Given the description of an element on the screen output the (x, y) to click on. 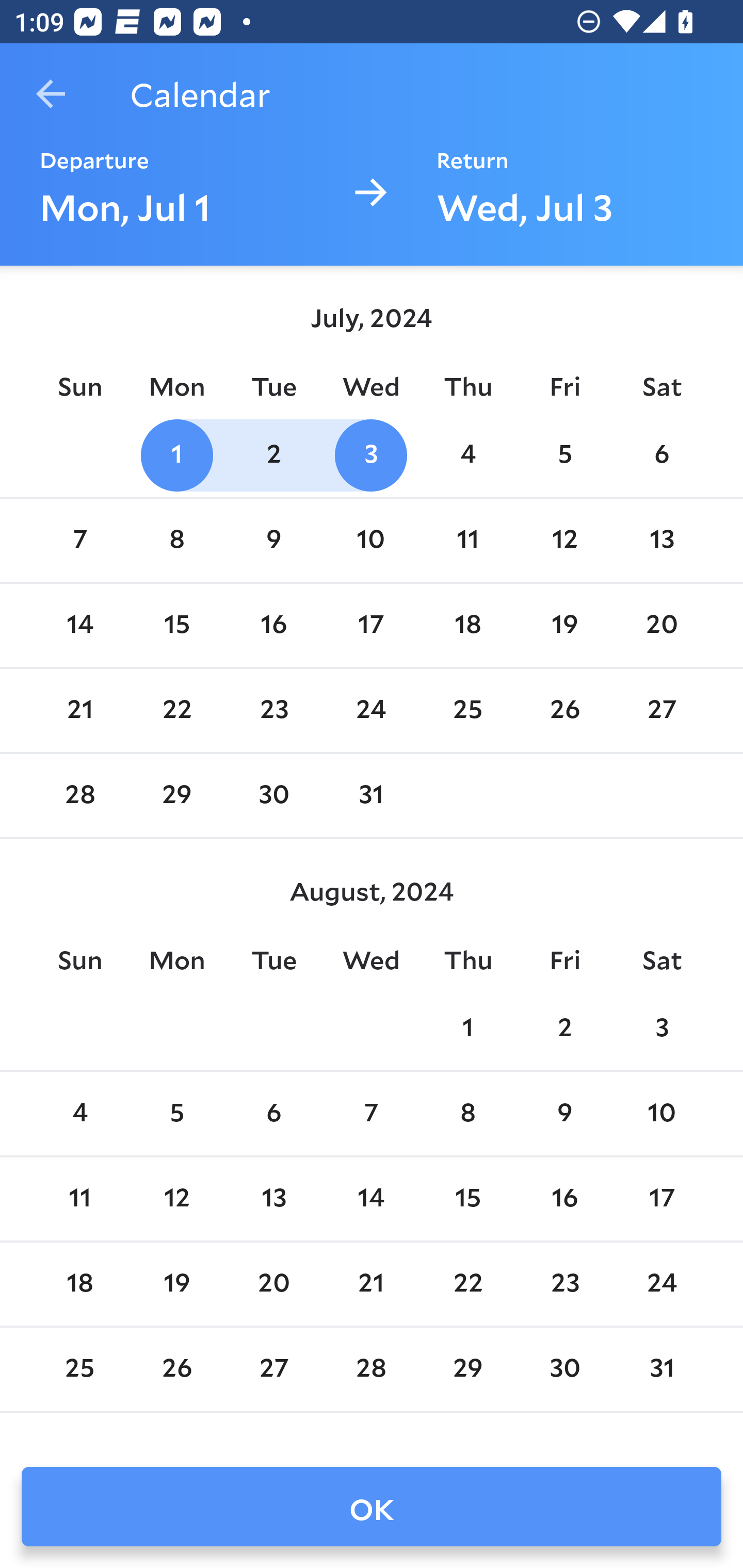
Navigate up (50, 93)
1 (177, 454)
2 (273, 454)
3 (371, 454)
4 (467, 454)
5 (565, 454)
6 (661, 454)
7 (79, 540)
8 (177, 540)
9 (273, 540)
10 (371, 540)
11 (467, 540)
12 (565, 540)
13 (661, 540)
14 (79, 625)
15 (177, 625)
16 (273, 625)
17 (371, 625)
18 (467, 625)
19 (565, 625)
20 (661, 625)
21 (79, 710)
22 (177, 710)
23 (273, 710)
24 (371, 710)
25 (467, 710)
26 (565, 710)
27 (661, 710)
28 (79, 796)
29 (177, 796)
30 (273, 796)
31 (371, 796)
1 (467, 1028)
2 (565, 1028)
3 (661, 1028)
4 (79, 1114)
5 (177, 1114)
6 (273, 1114)
7 (371, 1114)
8 (467, 1114)
9 (565, 1114)
10 (661, 1114)
11 (79, 1199)
12 (177, 1199)
13 (273, 1199)
14 (371, 1199)
15 (467, 1199)
16 (565, 1199)
17 (661, 1199)
18 (79, 1284)
19 (177, 1284)
20 (273, 1284)
21 (371, 1284)
22 (467, 1284)
23 (565, 1284)
24 (661, 1284)
25 (79, 1368)
26 (177, 1368)
27 (273, 1368)
28 (371, 1368)
29 (467, 1368)
30 (565, 1368)
31 (661, 1368)
OK (371, 1506)
